Given the description of an element on the screen output the (x, y) to click on. 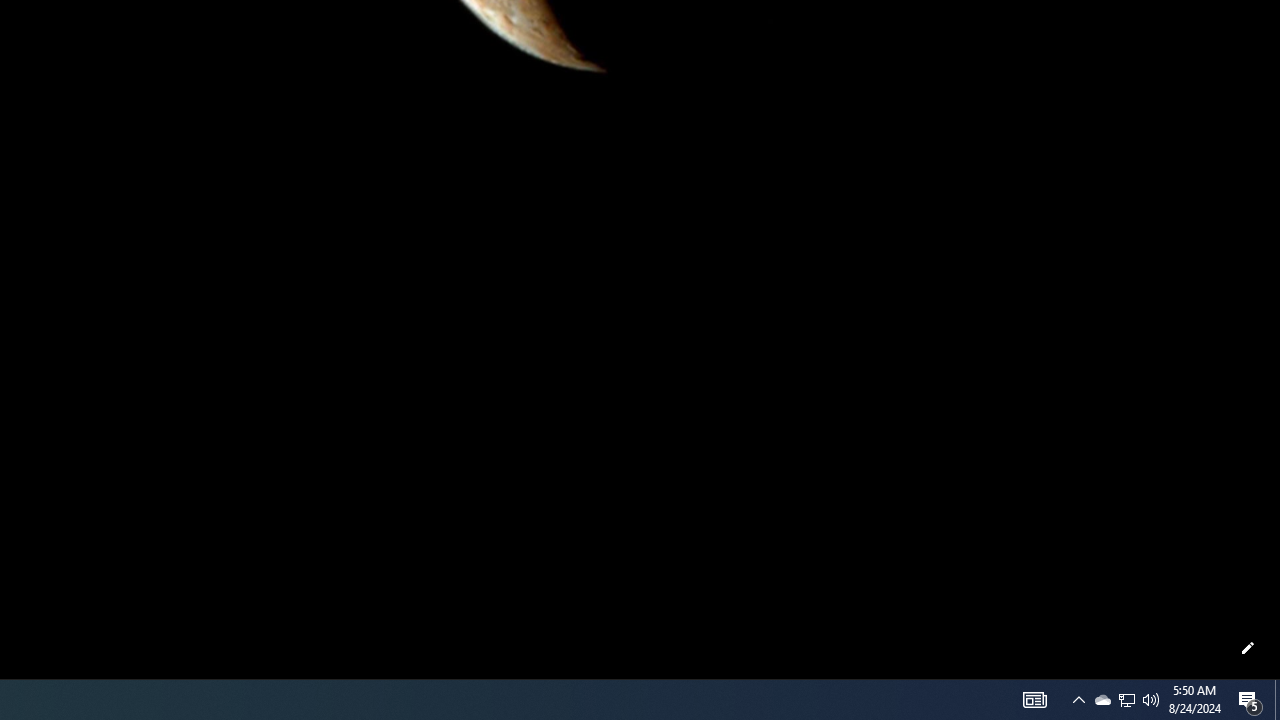
Customize this page (1247, 647)
